Given the description of an element on the screen output the (x, y) to click on. 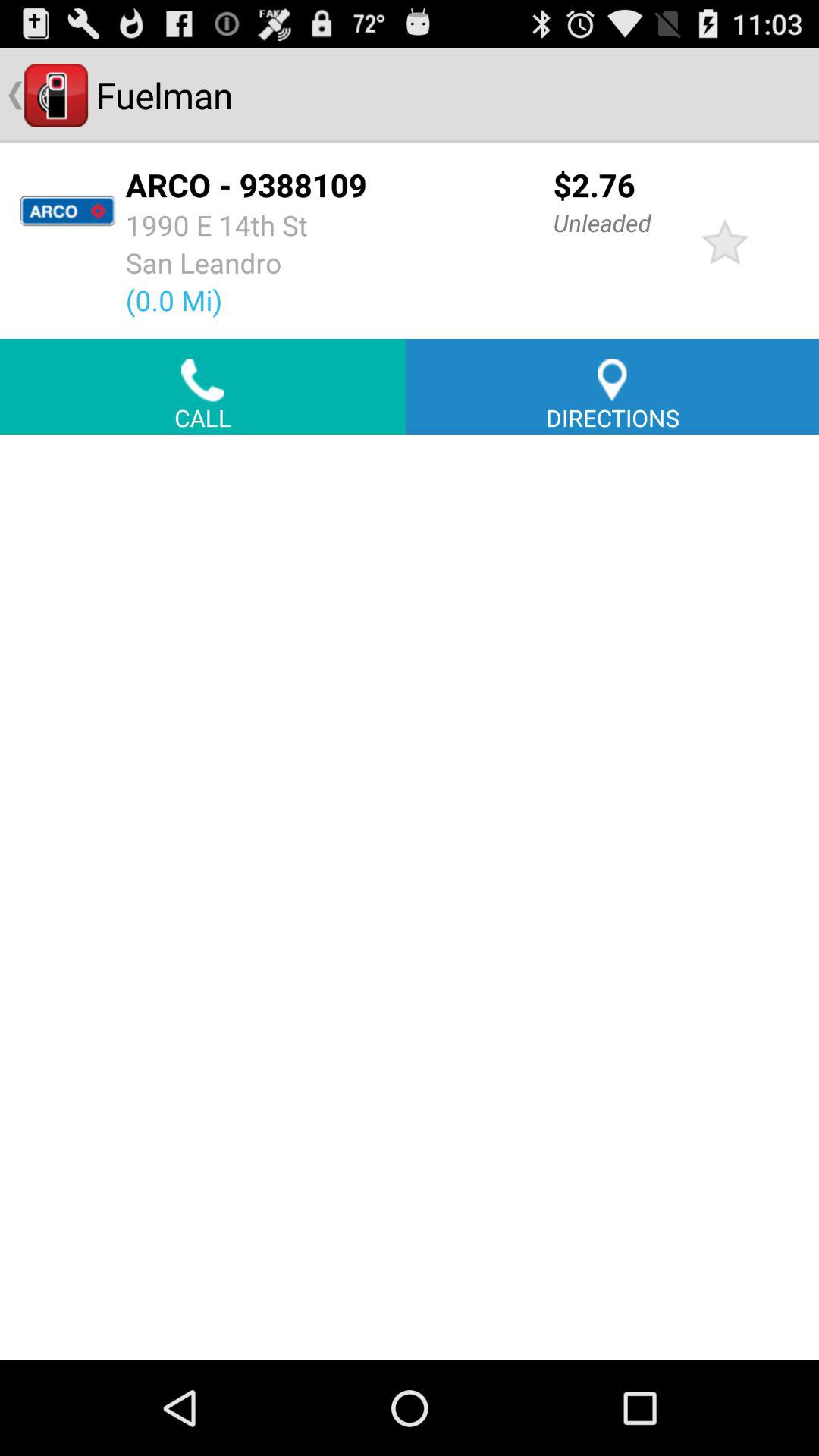
mark as favorite (724, 240)
